Given the description of an element on the screen output the (x, y) to click on. 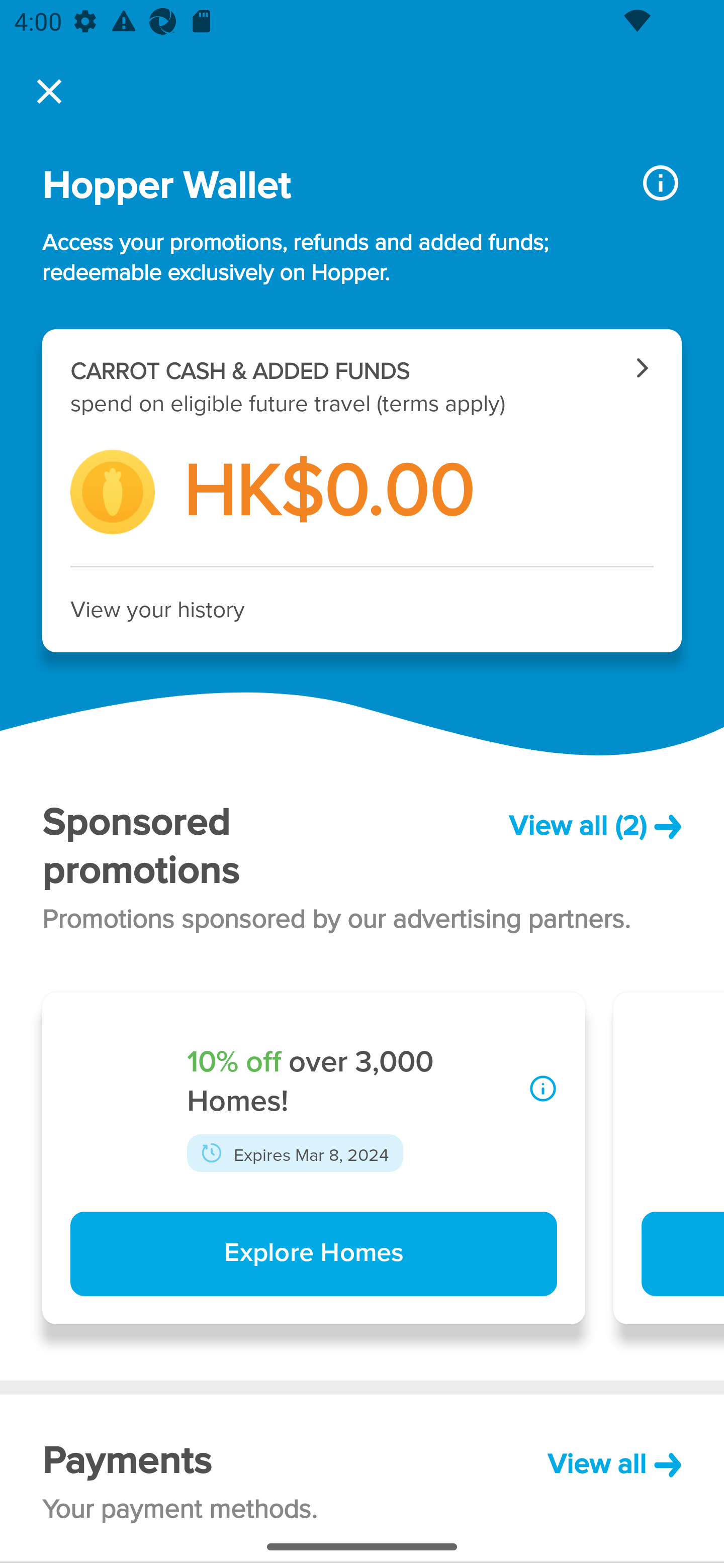
Navigate up (49, 91)
‍Hopper Wallet (326, 185)
‍View your history (361, 609)
‍Explore Homes (313, 1254)
‍Payments ‍View all ​ ‍Your payment methods. (362, 1477)
